Given the description of an element on the screen output the (x, y) to click on. 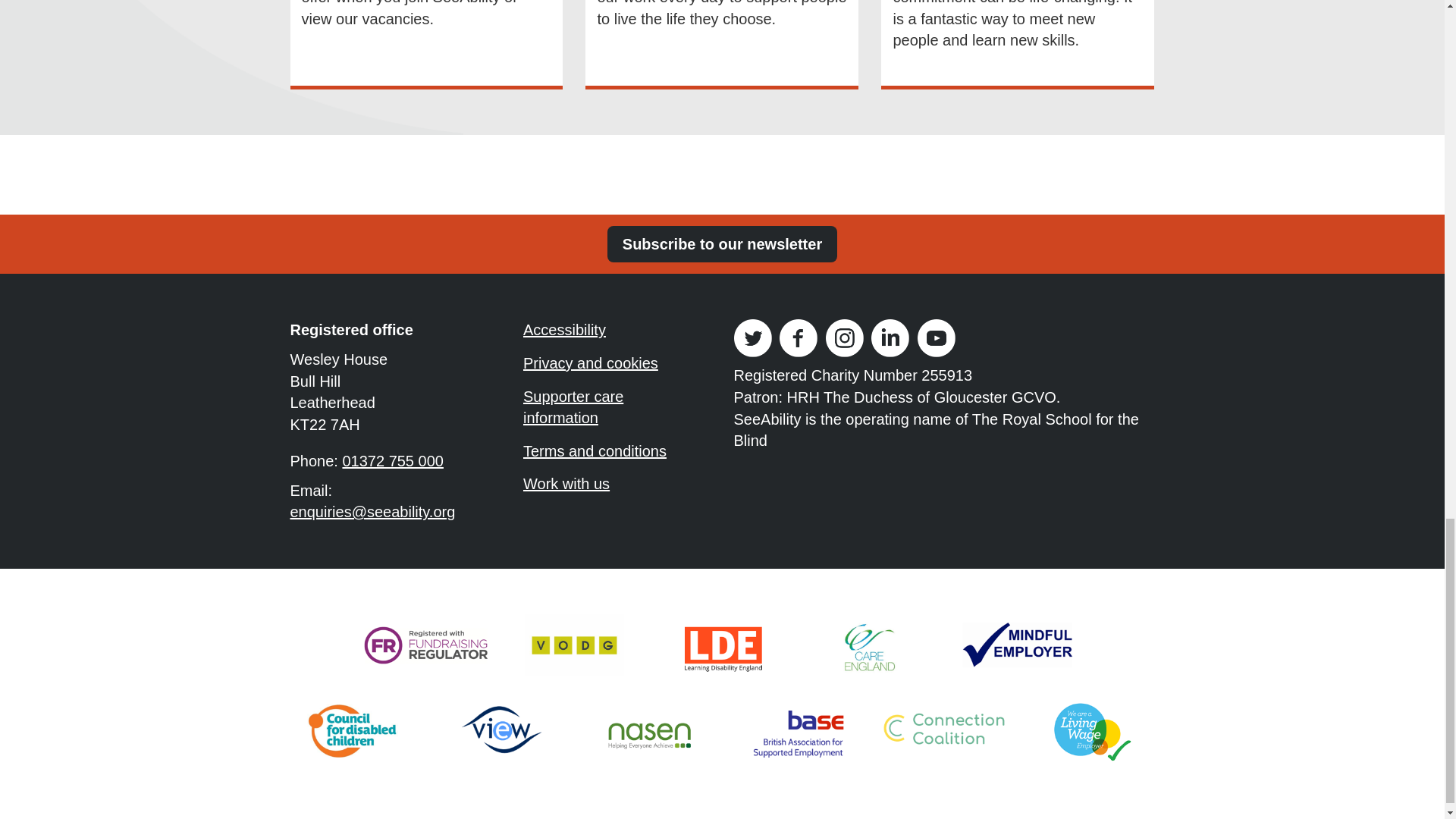
Subscribe to our newsletter (722, 244)
01372 755 000 (392, 460)
Accessibility (611, 332)
